Given the description of an element on the screen output the (x, y) to click on. 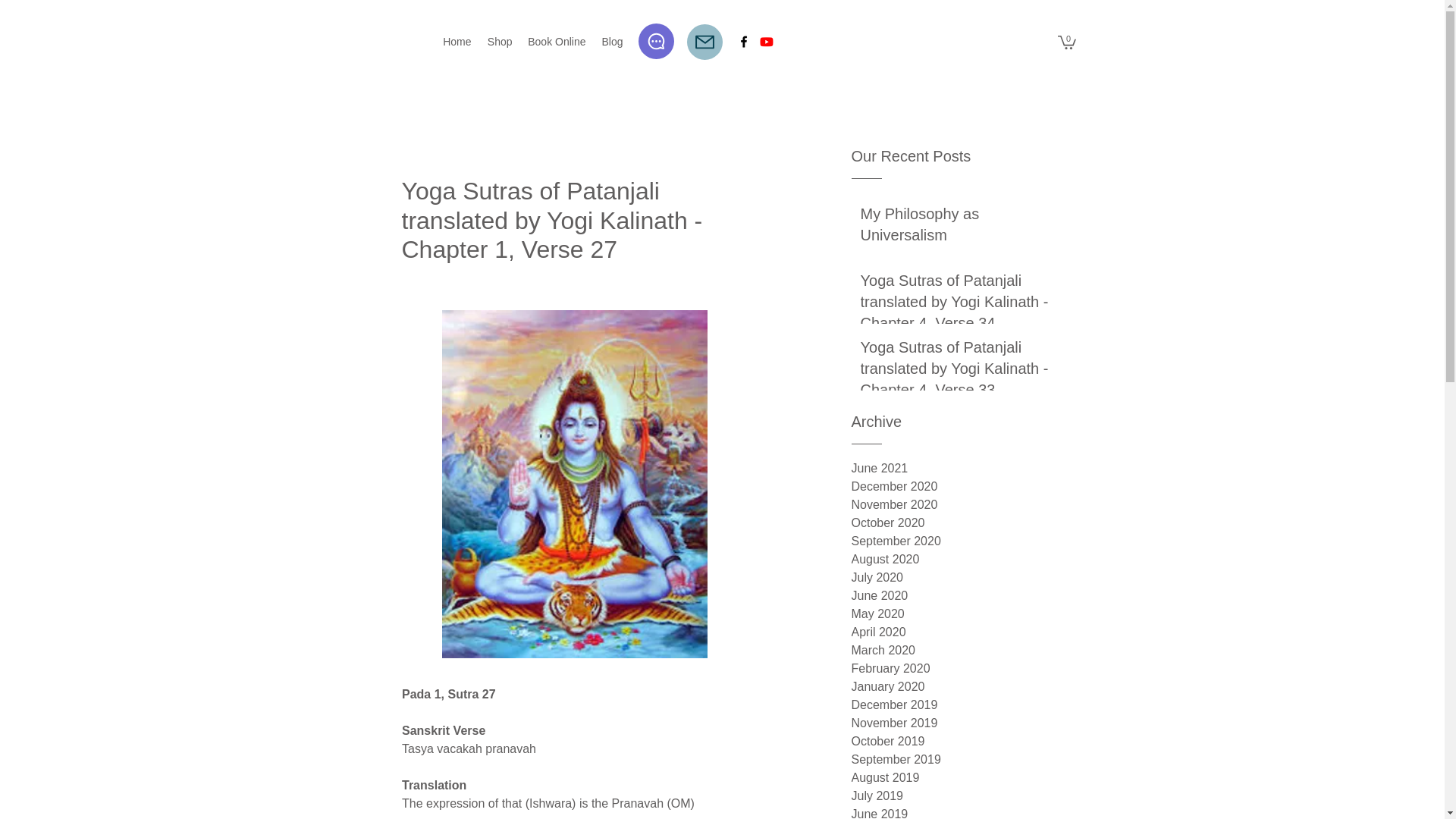
Book Online (556, 41)
December 2019 (964, 705)
September 2020 (964, 541)
April 2020 (964, 632)
My Philosophy as Universalism (959, 227)
June 2020 (964, 596)
0 (1066, 41)
August 2019 (964, 778)
October 2019 (964, 741)
August 2020 (964, 559)
